Given the description of an element on the screen output the (x, y) to click on. 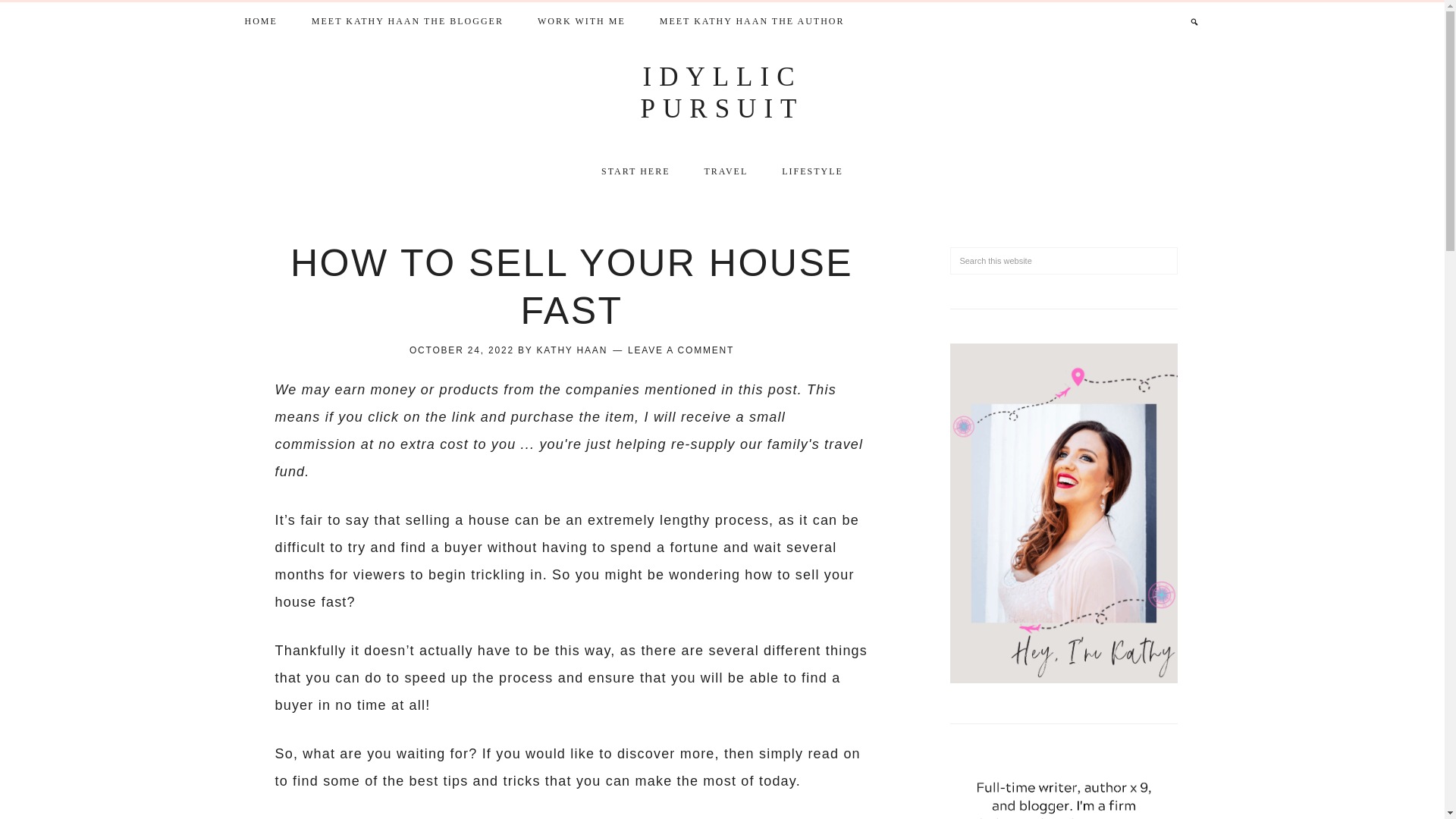
START HERE (635, 171)
IDYLLIC PURSUIT (722, 92)
MEET KATHY HAAN THE BLOGGER (407, 19)
TRAVEL (725, 171)
LIFESTYLE (813, 169)
HOME (260, 19)
MEET KATHY HAAN THE AUTHOR (752, 19)
WORK WITH ME (581, 19)
LEAVE A COMMENT (680, 349)
KATHY HAAN (572, 349)
